Given the description of an element on the screen output the (x, y) to click on. 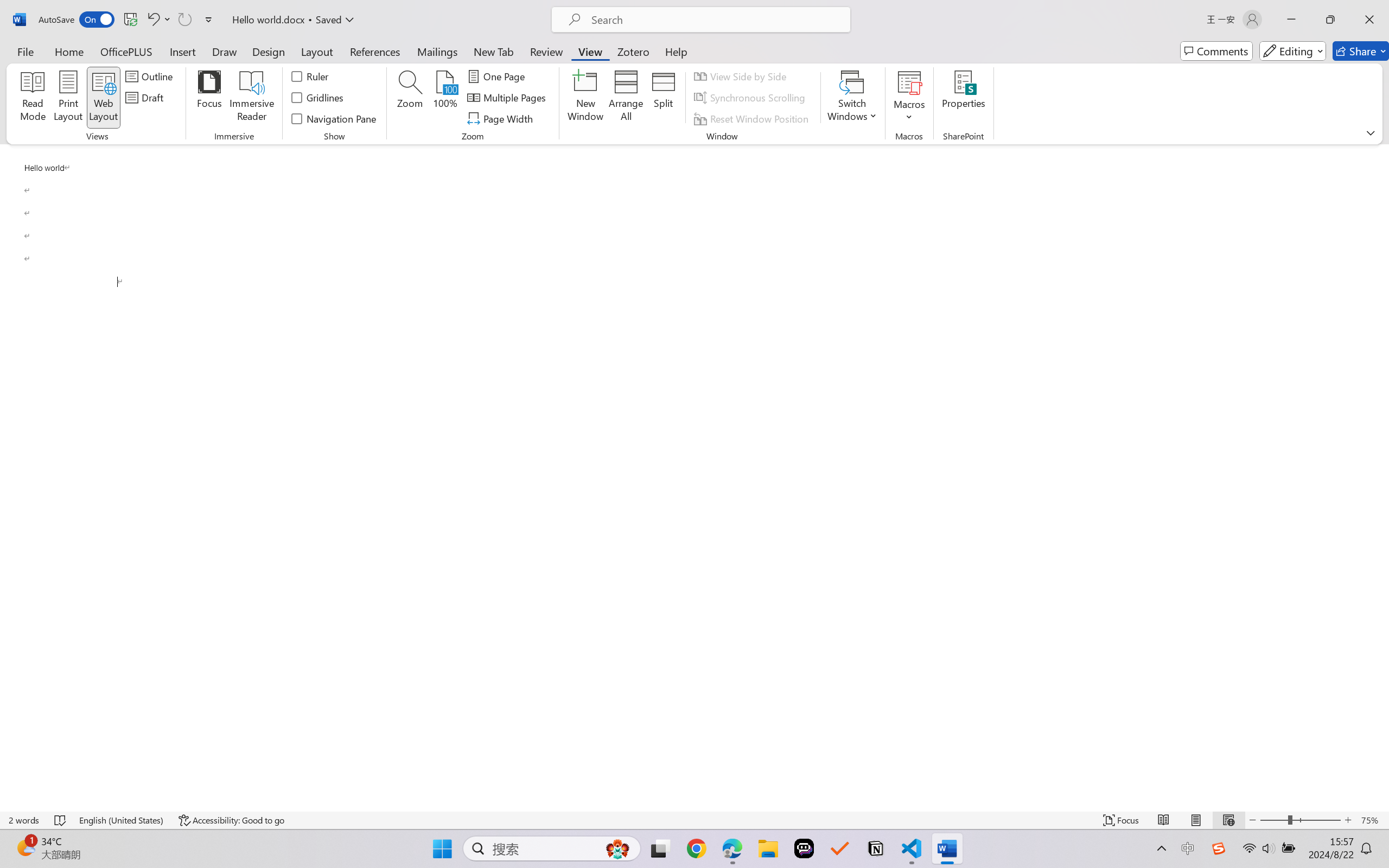
Zoom 75% (1372, 819)
Minimize (1291, 19)
Zoom Out (1273, 819)
Navigation Pane (334, 118)
Focus  (1121, 819)
File Tab (24, 51)
Home (69, 51)
Draft (146, 97)
Word Count 2 words (23, 819)
Class: MsoCommandBar (694, 819)
Page Width (501, 118)
New Tab (493, 51)
Mailings (437, 51)
Outline (150, 75)
